Given the description of an element on the screen output the (x, y) to click on. 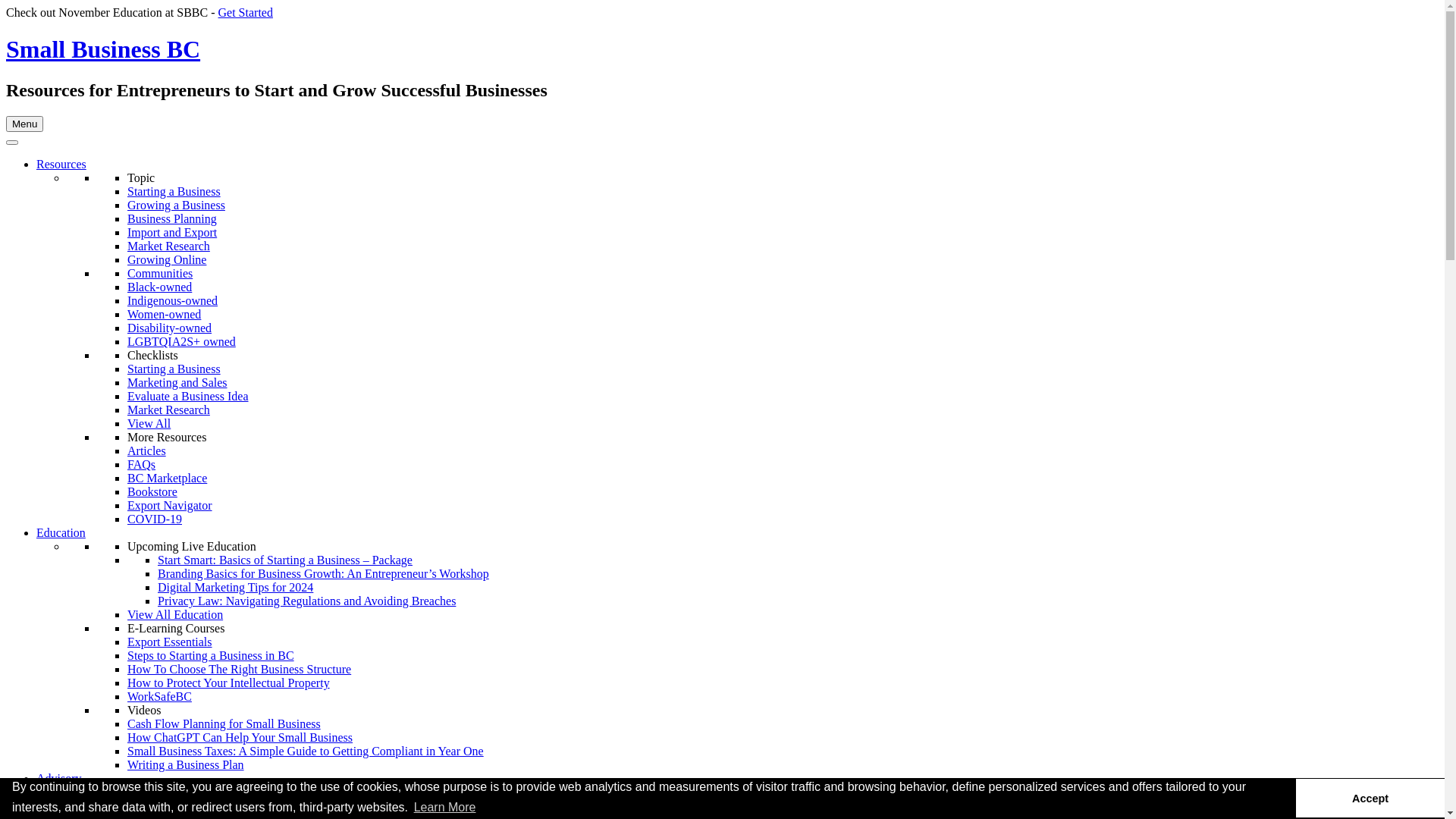
FAQs Element type: text (141, 464)
Menu Element type: text (24, 123)
Growing Online Element type: text (166, 259)
Articles Element type: text (146, 450)
Starting a Business Element type: text (173, 191)
BC Marketplace Element type: text (167, 477)
Women-owned Element type: text (163, 313)
COVID-19 Element type: text (154, 518)
Market Research Element type: text (168, 409)
How to Protect Your Intellectual Property Element type: text (228, 682)
Get Started Element type: text (245, 12)
Bookstore Element type: text (152, 491)
Import and Export Element type: text (171, 231)
Evaluate a Business Idea Element type: text (187, 395)
Accept Element type: text (1369, 797)
Starting a Business Element type: text (173, 368)
Small Business BC Element type: text (103, 48)
WorkSafeBC Element type: text (159, 696)
Communities Element type: text (159, 272)
Steps to Starting a Business in BC Element type: text (210, 655)
Business Planning Element type: text (171, 218)
Market Research Element type: text (168, 245)
Resources Element type: text (61, 163)
View All Element type: text (148, 423)
How ChatGPT Can Help Your Small Business Element type: text (239, 737)
Digital Marketing Tips for 2024 Element type: text (235, 586)
Free Introductory Business Advisory Element type: text (216, 805)
Writing a Business Plan Element type: text (185, 764)
Education Element type: text (60, 532)
How To Choose The Right Business Structure Element type: text (239, 668)
Growing a Business Element type: text (176, 204)
LGBTQIA2S+ owned Element type: text (181, 341)
View All Education Element type: text (174, 614)
Black-owned Element type: text (159, 286)
Privacy Law: Navigating Regulations and Avoiding Breaches Element type: text (306, 600)
Export Navigator Element type: text (169, 504)
Indigenous-owned Element type: text (172, 300)
Marketing and Sales Element type: text (177, 382)
Export Essentials Element type: text (169, 641)
Advisory Element type: text (58, 777)
Cash Flow Planning for Small Business Element type: text (223, 723)
Disability-owned Element type: text (169, 327)
